Given the description of an element on the screen output the (x, y) to click on. 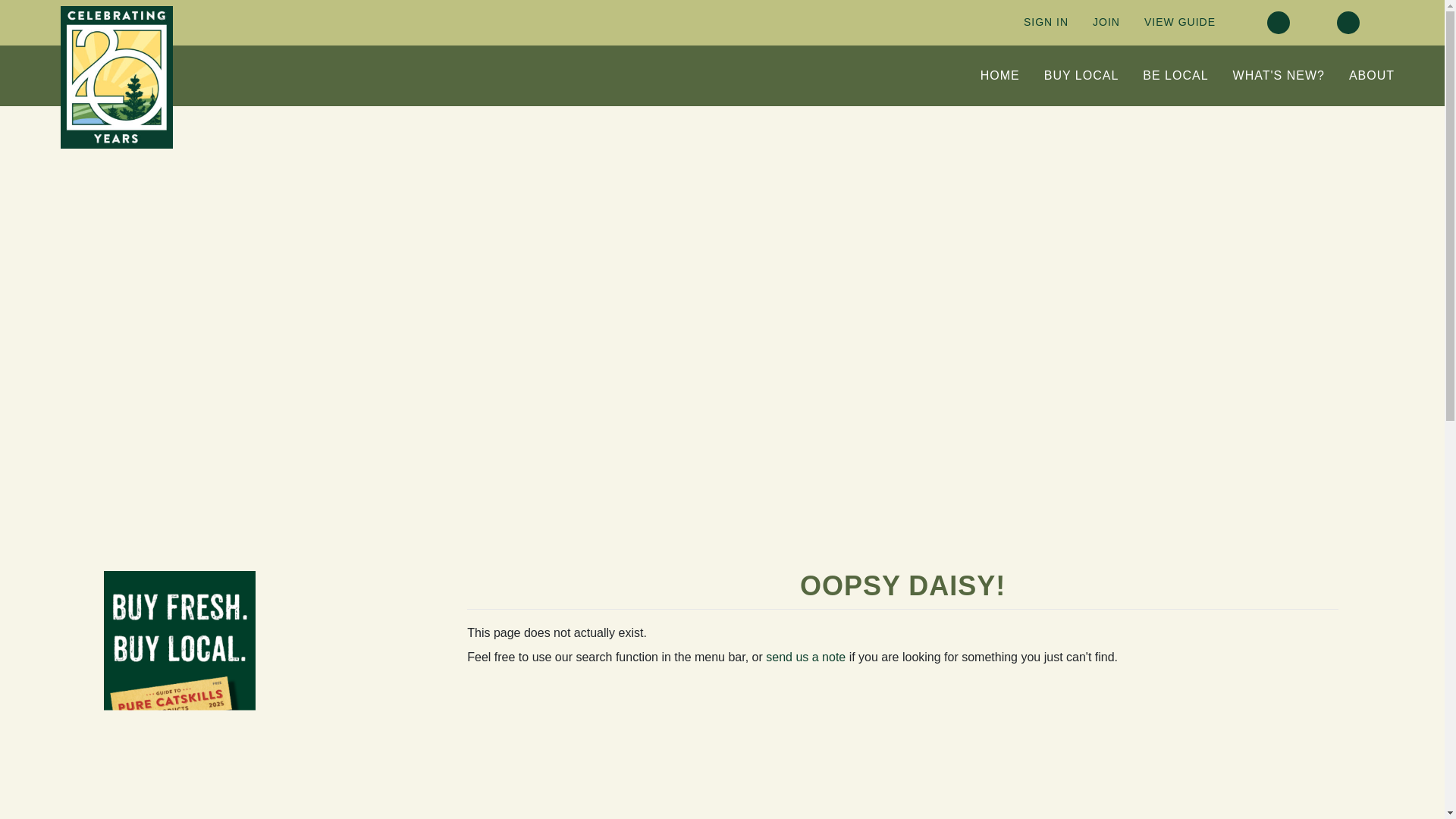
VIEW GUIDE (1179, 22)
HOME (1000, 75)
BE LOCAL (1175, 75)
SIGN IN (1045, 22)
JOIN (1106, 22)
WHAT'S NEW? (1278, 75)
ABOUT (1371, 75)
BUY LOCAL (1081, 75)
